Given the description of an element on the screen output the (x, y) to click on. 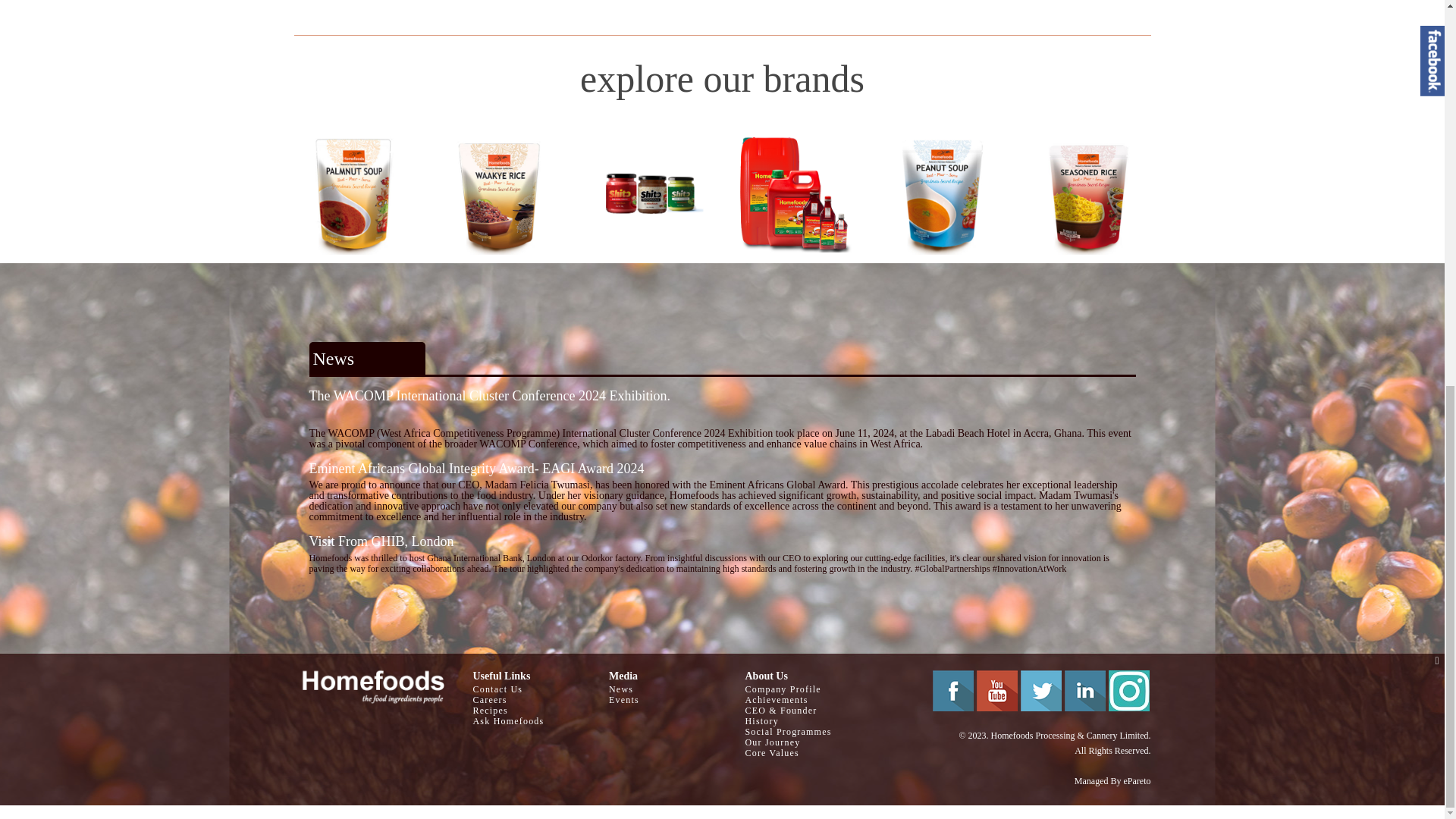
Follow us on Twitter (1040, 690)
Follow us on Facebook (953, 690)
ePareto InfoSys (1137, 780)
Follow us on LinkedIn (1084, 690)
Follow us on instagram (1129, 690)
Follow us on YouTube (996, 690)
